Given the description of an element on the screen output the (x, y) to click on. 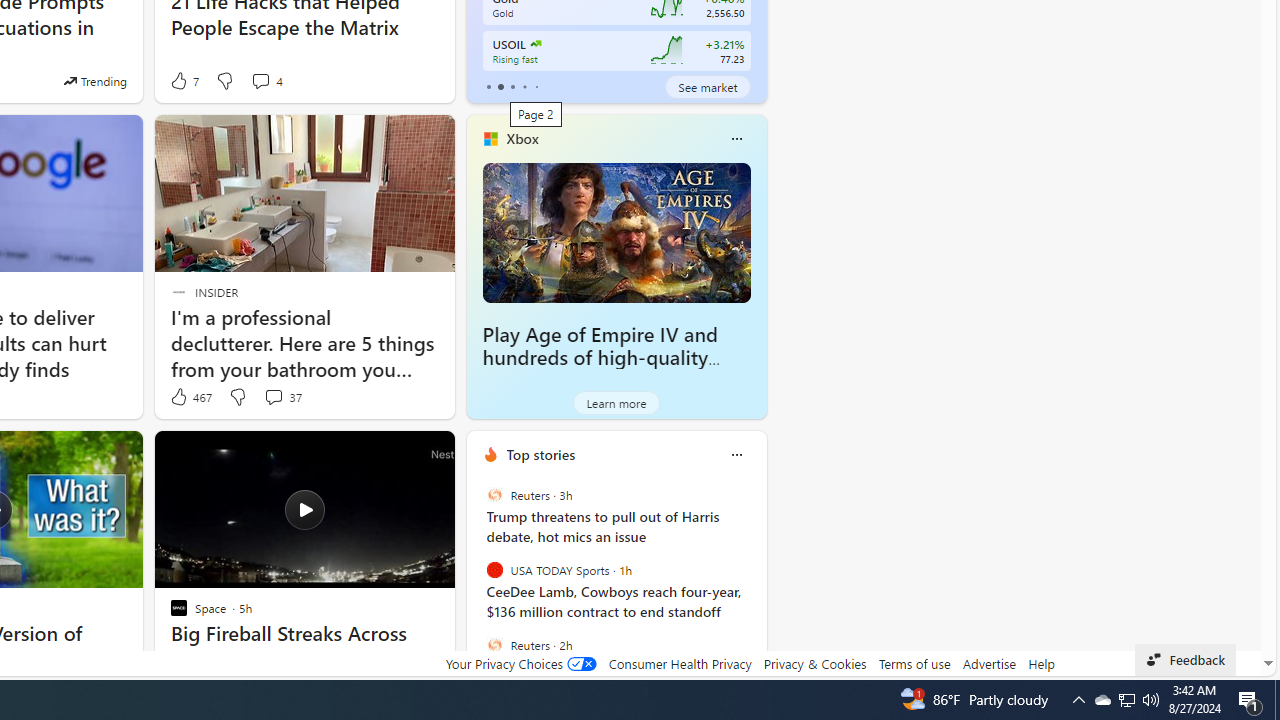
View comments 37 Comment (281, 397)
467 Like (190, 397)
View comments 37 Comment (273, 396)
Reuters (494, 644)
US Oil WTI (534, 43)
Xbox (521, 139)
Top stories (540, 454)
